Given the description of an element on the screen output the (x, y) to click on. 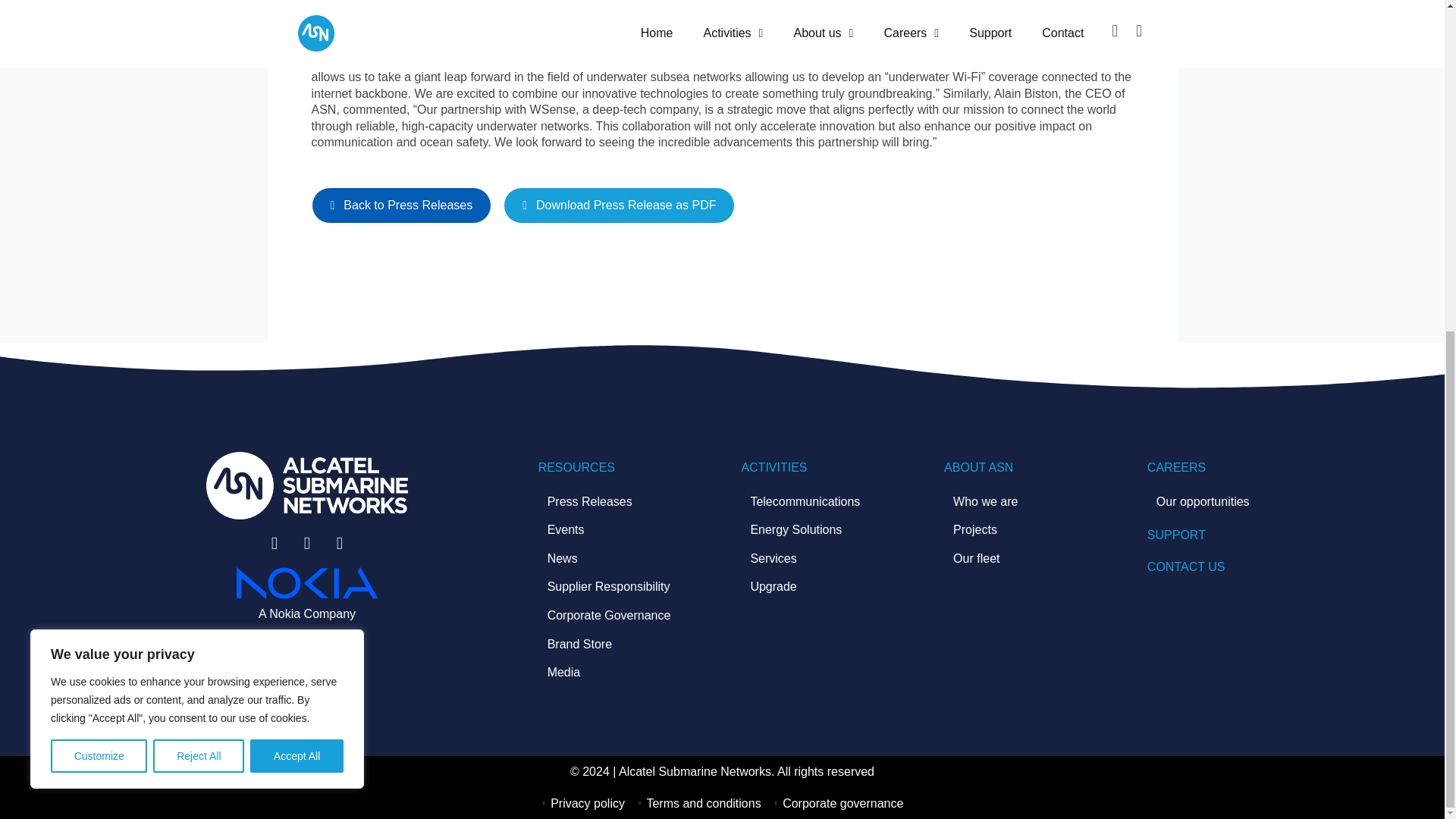
Customize (98, 205)
Accept All (296, 205)
Reject All (198, 205)
